Given the description of an element on the screen output the (x, y) to click on. 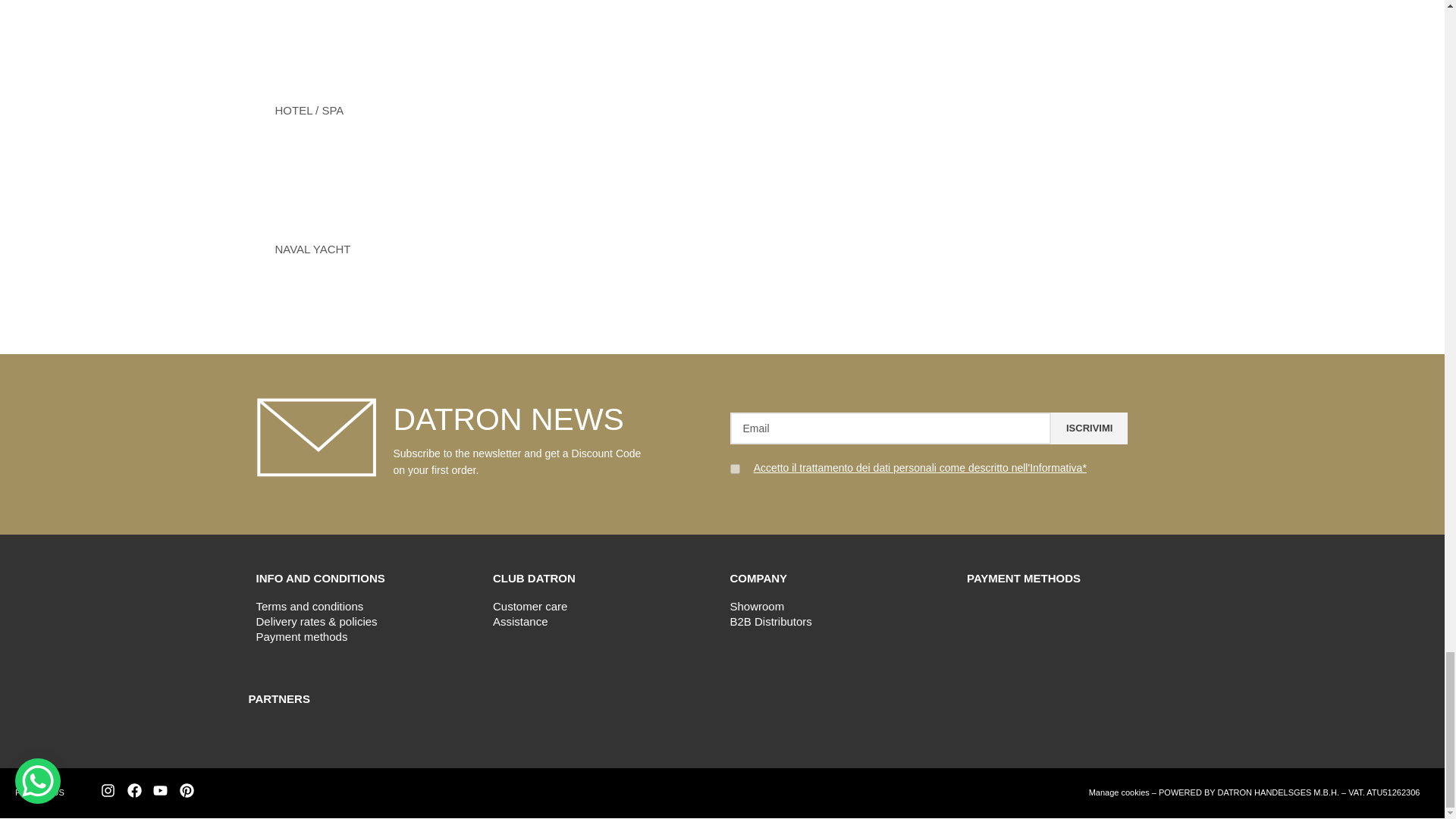
1 (734, 469)
Iscrivimi (1088, 428)
